Given the description of an element on the screen output the (x, y) to click on. 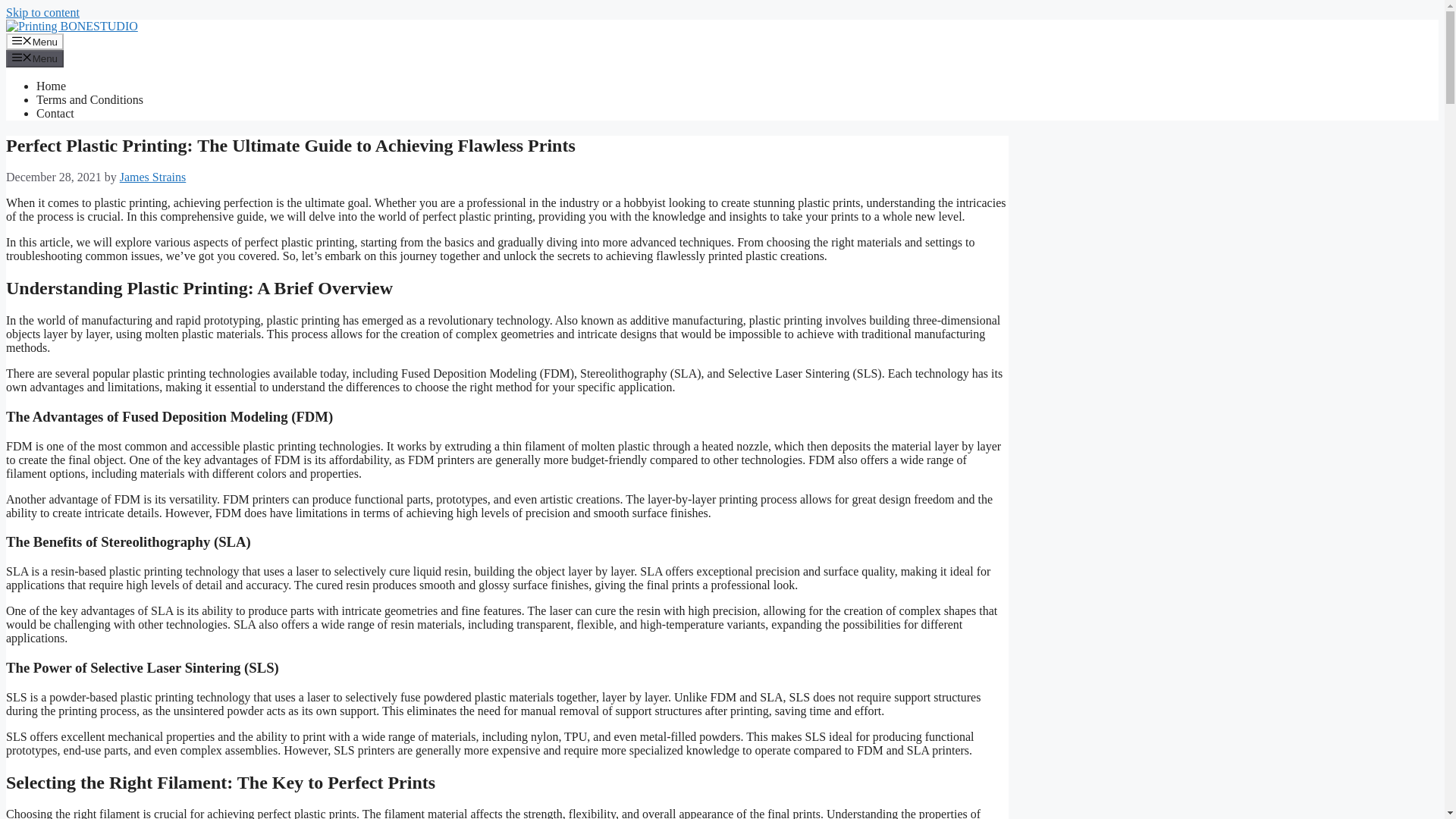
Skip to content (42, 11)
Menu (34, 57)
View all posts by James Strains (152, 176)
Menu (34, 41)
Home (50, 85)
Terms and Conditions (89, 99)
Skip to content (42, 11)
James Strains (152, 176)
Contact (55, 113)
